Given the description of an element on the screen output the (x, y) to click on. 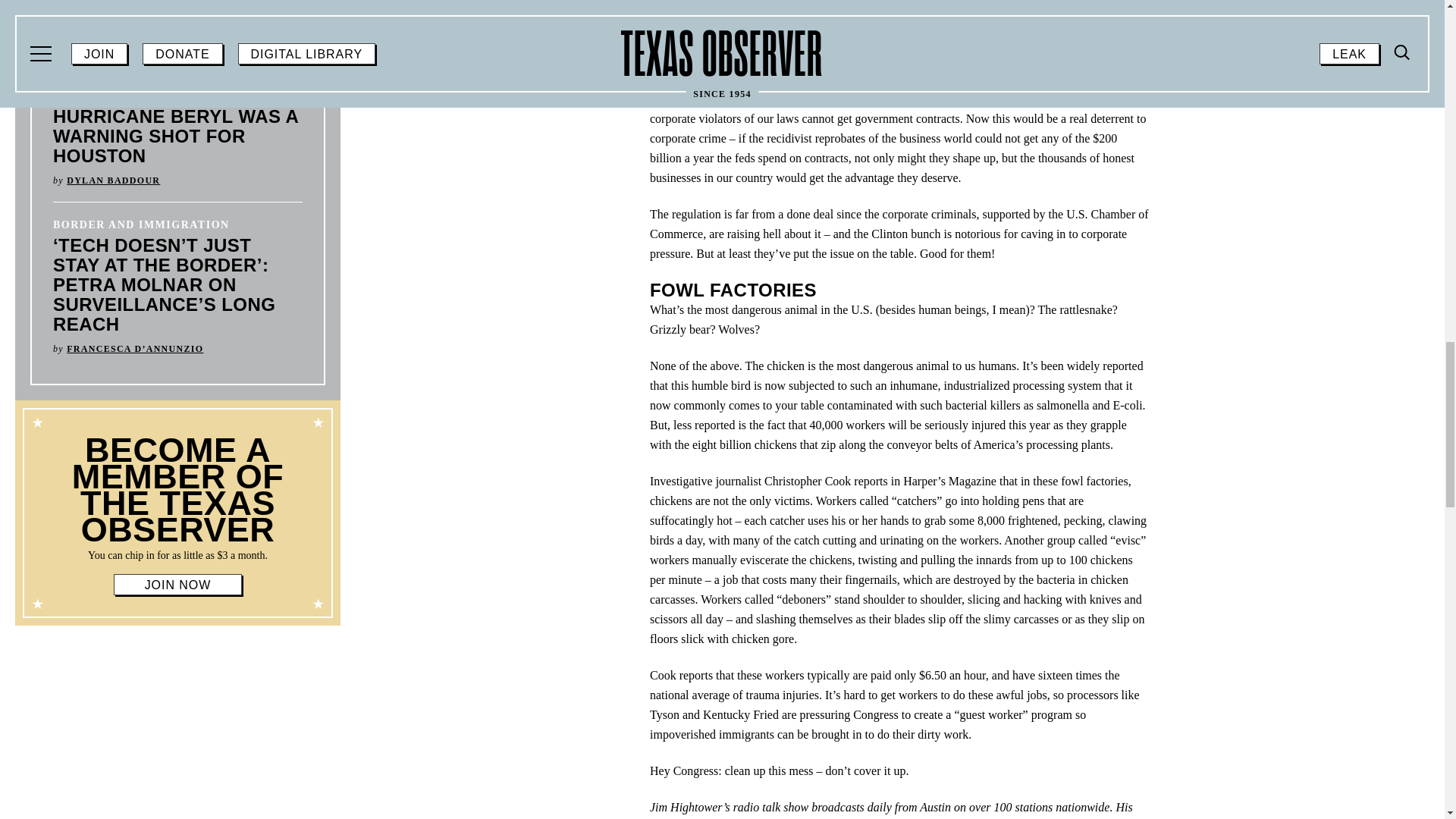
Page 8 (177, 554)
Page 8 (177, 498)
